Given the description of an element on the screen output the (x, y) to click on. 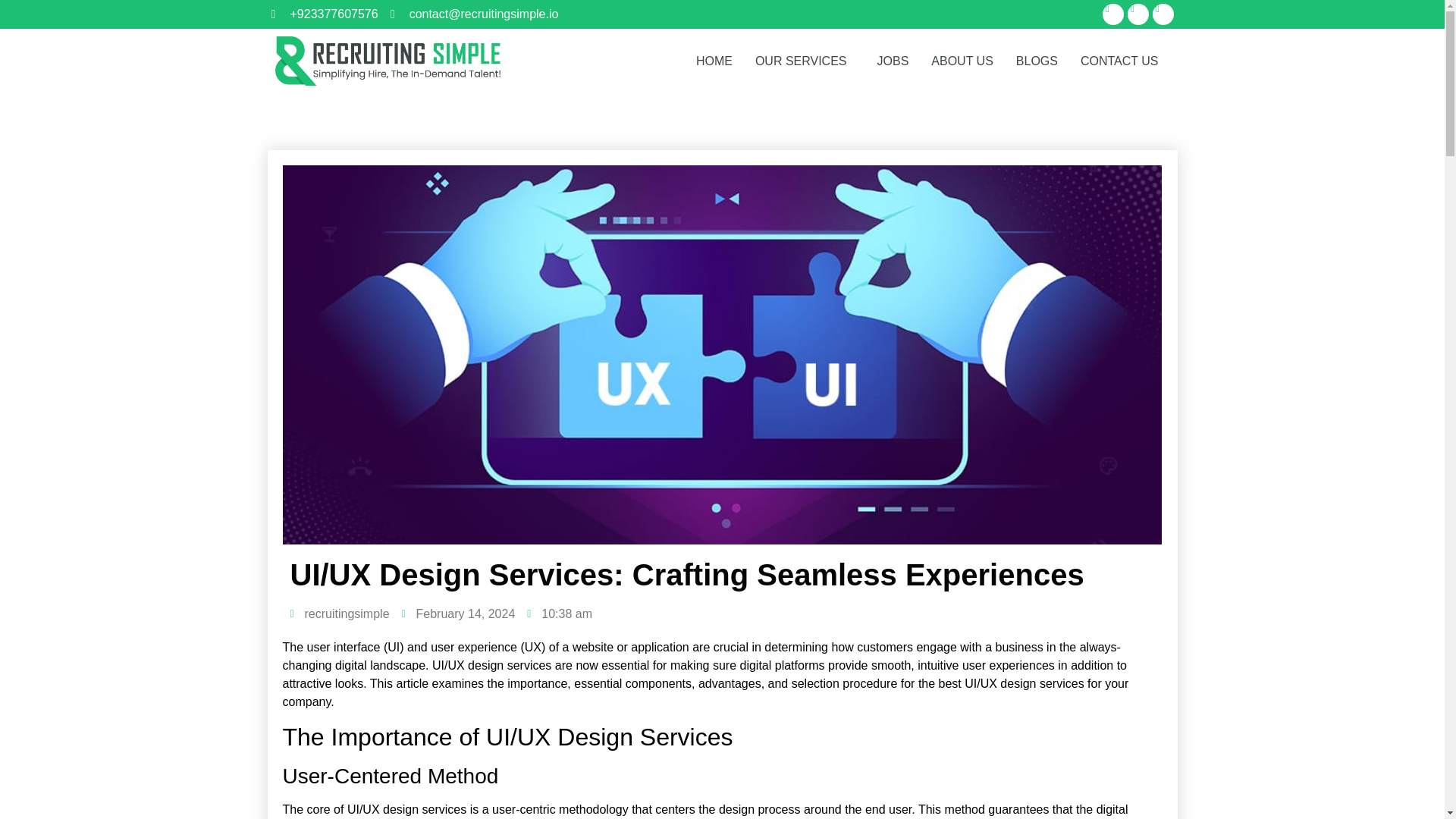
February 14, 2024 (458, 614)
BLOGS (1036, 61)
recruitingsimple (338, 614)
ABOUT US (962, 61)
CONTACT US (1119, 61)
JOBS (893, 61)
HOME (714, 61)
OUR SERVICES (805, 61)
